Given the description of an element on the screen output the (x, y) to click on. 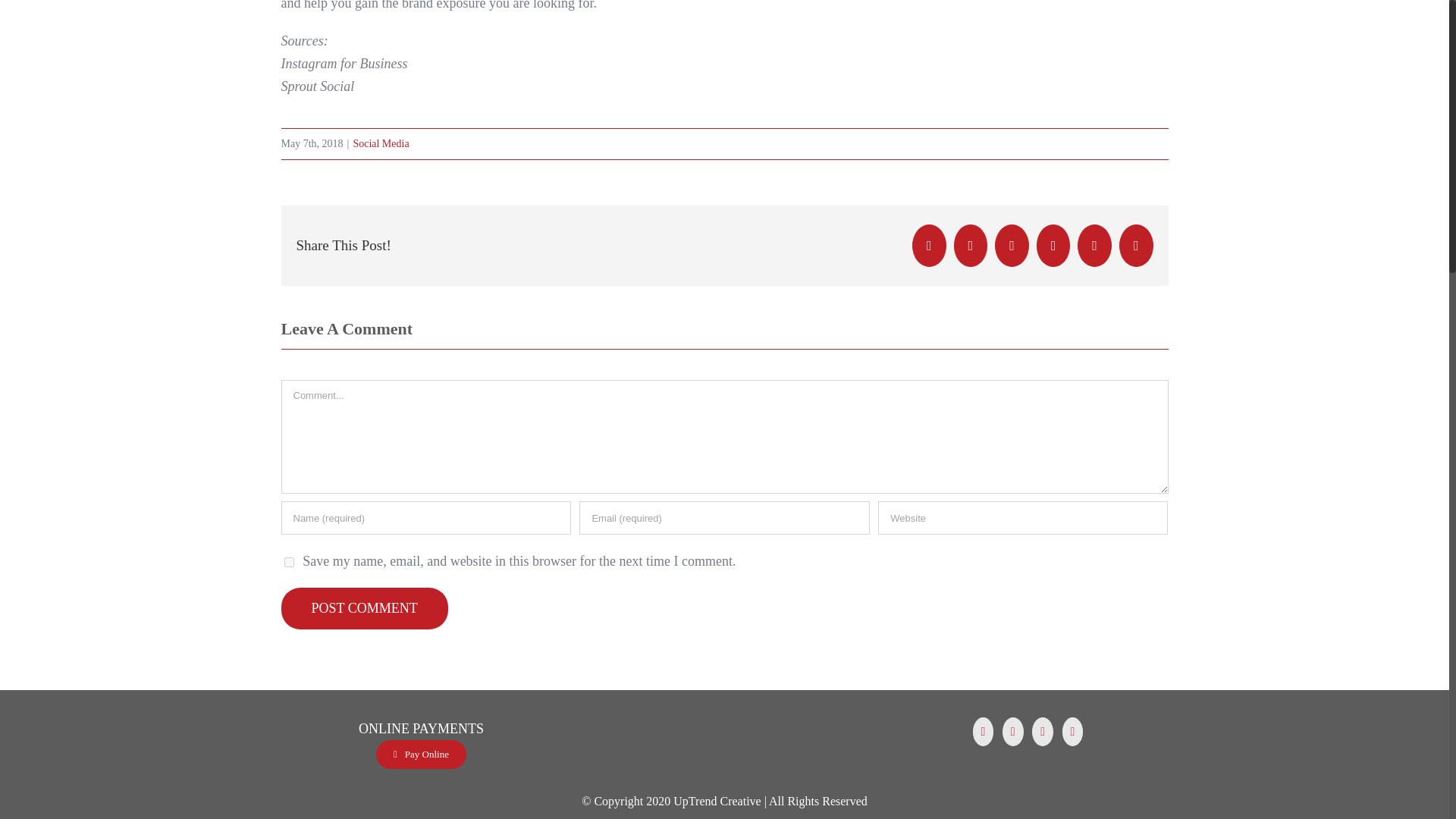
Post Comment (363, 608)
